Given the description of an element on the screen output the (x, y) to click on. 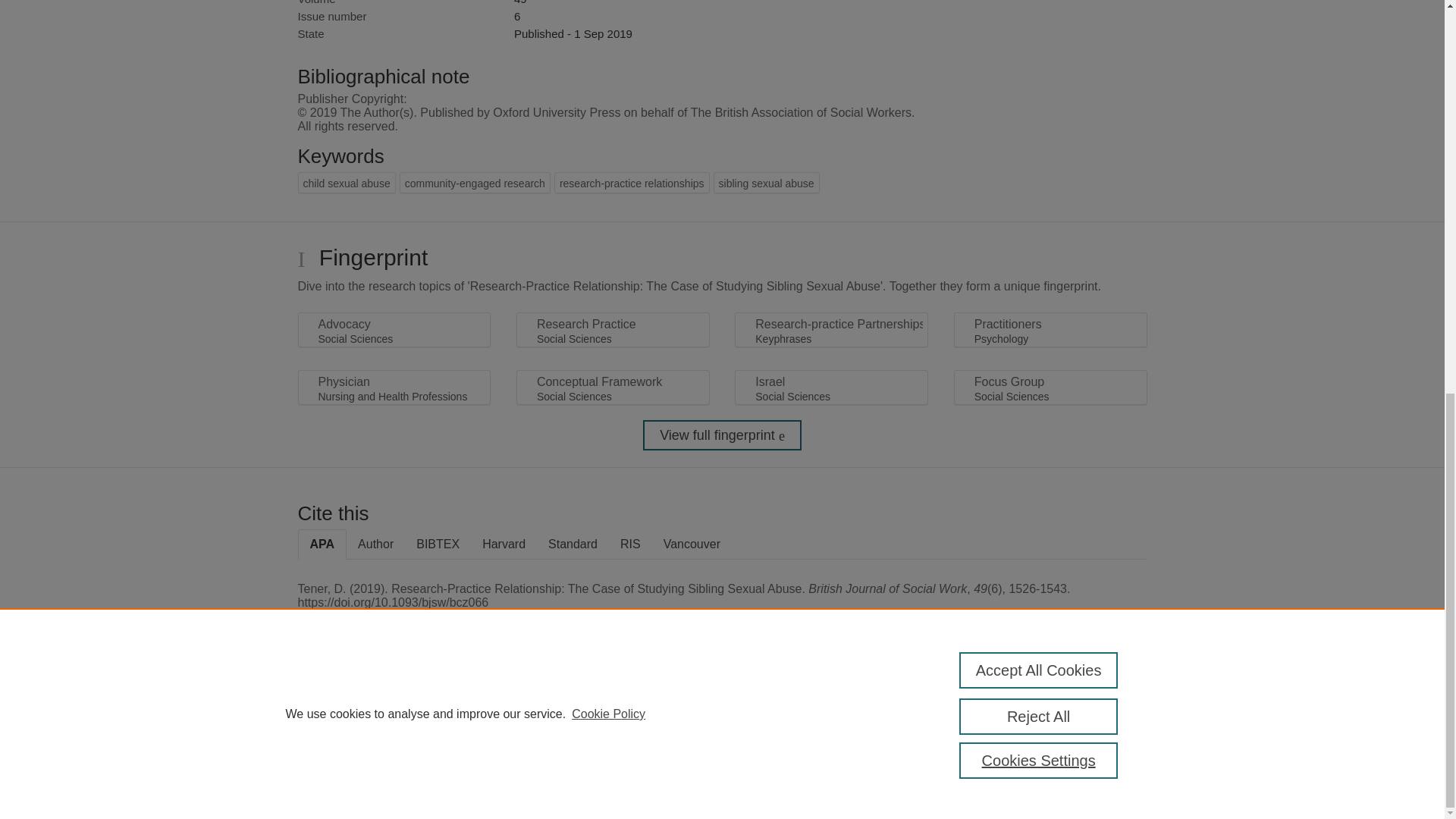
Cookies Settings (334, 781)
Pure (362, 708)
Scopus (394, 708)
Report vulnerability (1088, 745)
Cookies Settings (1038, 11)
View full fingerprint (722, 435)
use of cookies (796, 760)
About web accessibility (1088, 713)
Elsevier B.V. (506, 728)
